Given the description of an element on the screen output the (x, y) to click on. 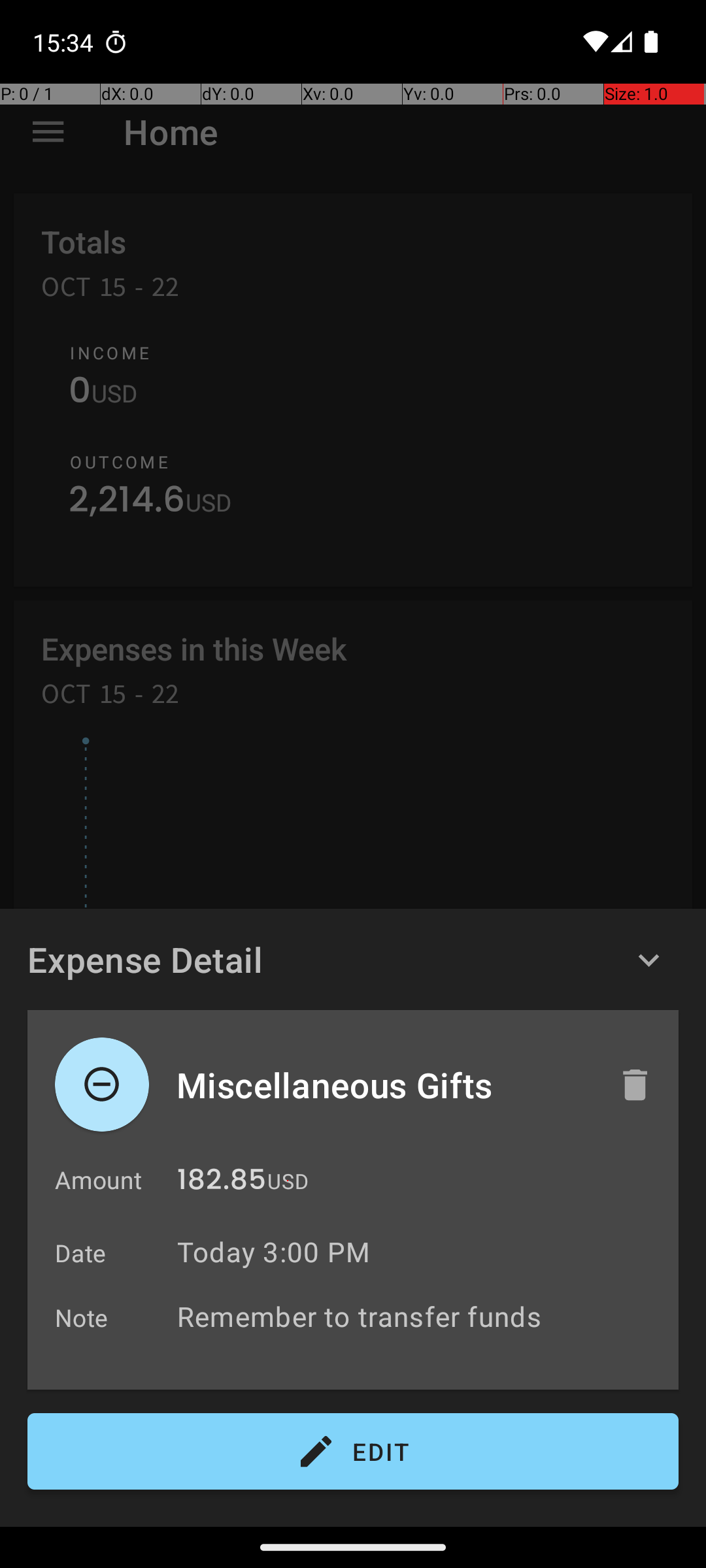
Miscellaneous Gifts Element type: android.widget.TextView (383, 1084)
182.85 Element type: android.widget.TextView (221, 1182)
